Given the description of an element on the screen output the (x, y) to click on. 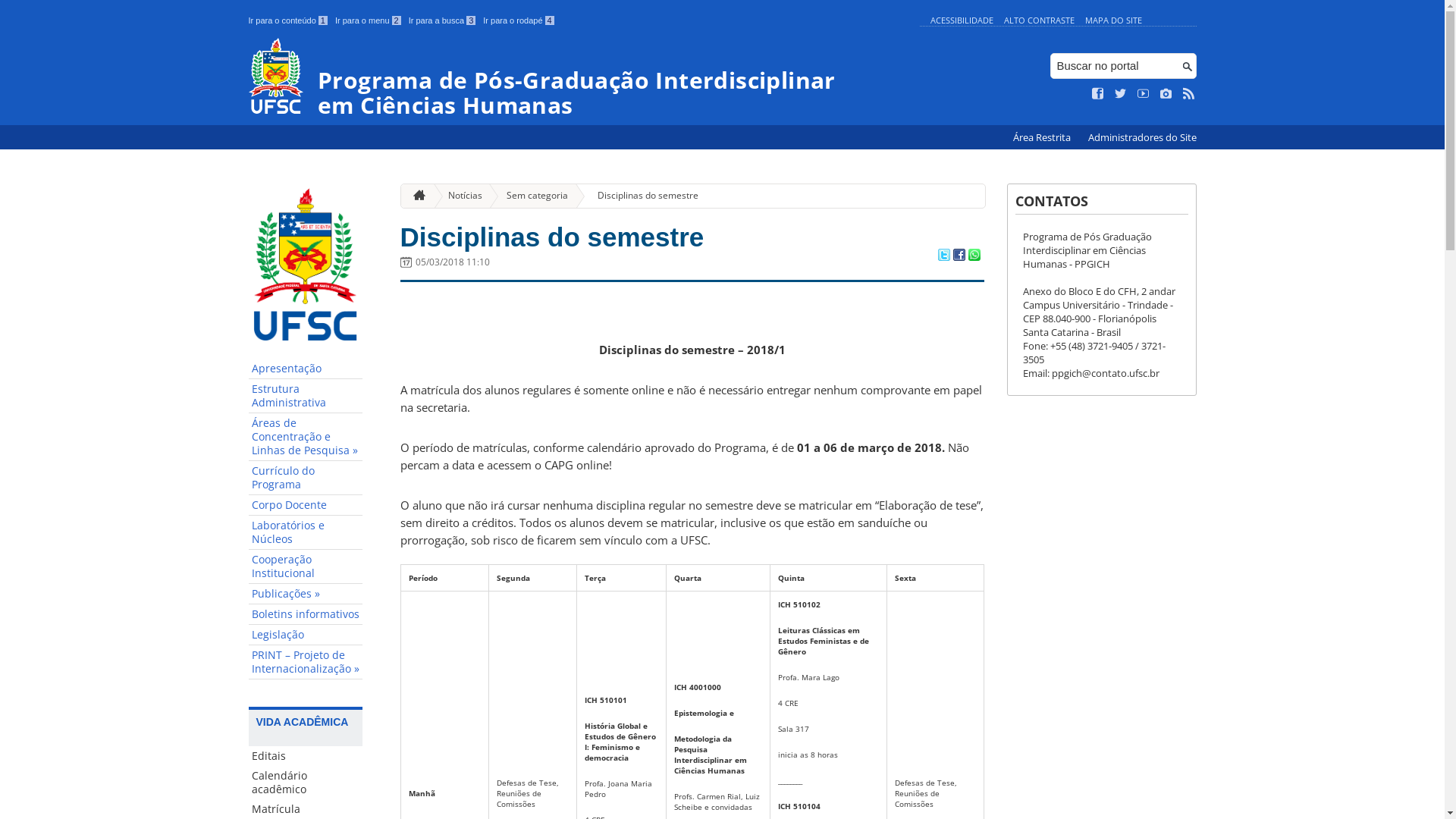
Compartilhar no Twitter Element type: hover (943, 255)
Disciplinas do semestre Element type: text (641, 195)
Ir para a busca 3 Element type: text (442, 20)
Administradores do Site Element type: text (1141, 137)
Compartilhar no Facebook Element type: hover (958, 255)
ACESSIBILIDADE Element type: text (960, 19)
Boletins informativos Element type: text (305, 614)
Sem categoria Element type: text (531, 195)
Disciplinas do semestre Element type: text (552, 236)
Compartilhar no WhatsApp Element type: hover (973, 255)
Estrutura Administrativa Element type: text (305, 396)
MAPA DO SITE Element type: text (1112, 19)
Veja no Instagram Element type: hover (1166, 93)
ALTO CONTRASTE Element type: text (1039, 19)
Siga no Twitter Element type: hover (1120, 93)
Curta no Facebook Element type: hover (1098, 93)
Corpo Docente Element type: text (305, 505)
Editais Element type: text (305, 755)
Ir para o menu 2 Element type: text (368, 20)
